Given the description of an element on the screen output the (x, y) to click on. 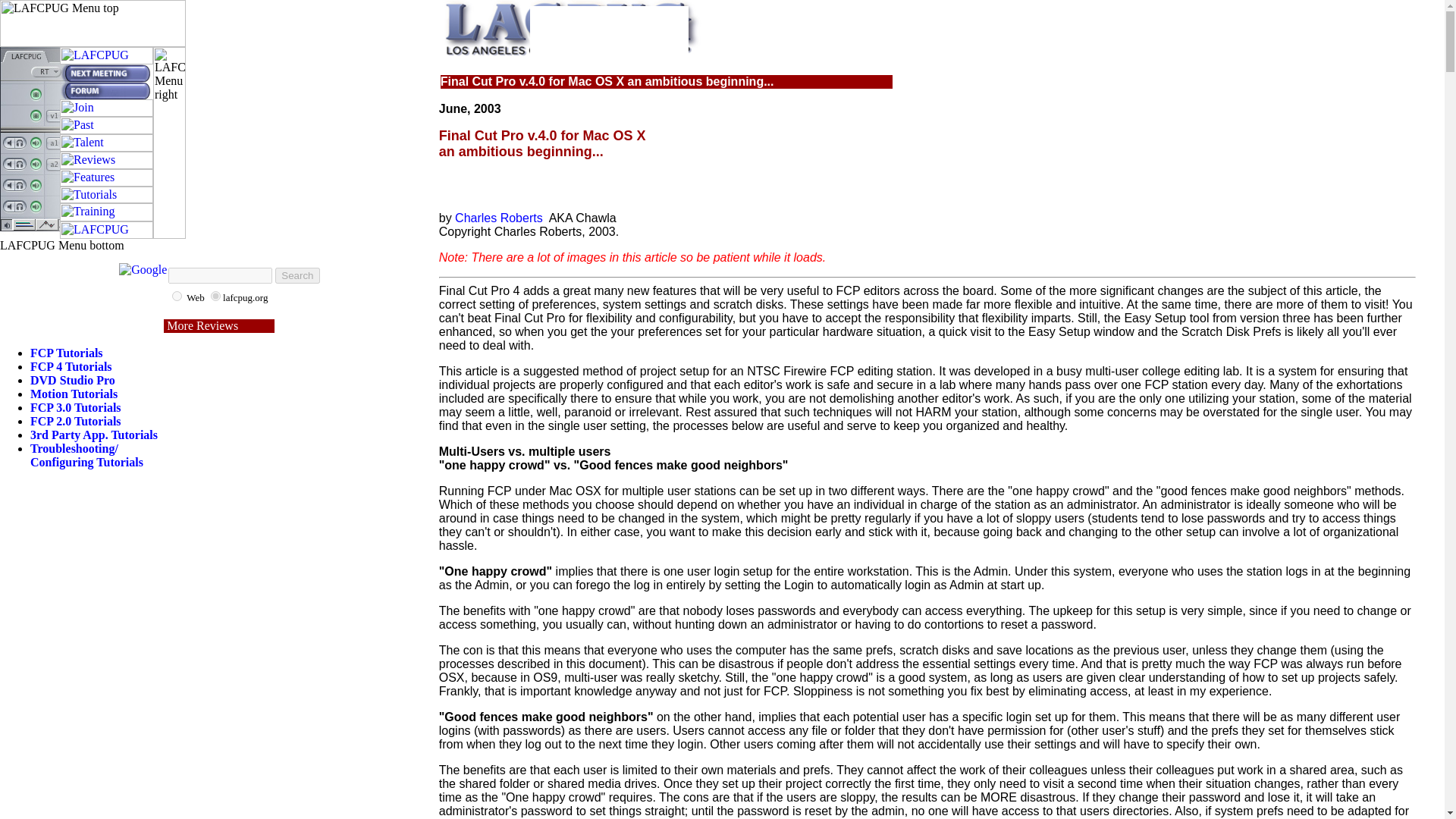
Search (296, 274)
DVD Studio Pro (72, 379)
3rd Party App. Tutorials (93, 434)
FCP Tutorials (66, 352)
Motion Tutorials (73, 393)
lafcpug.org (216, 296)
Search (296, 274)
FCP 2.0 Tutorials (75, 420)
radio (176, 296)
Charles Roberts (498, 217)
FCP 4 Tutorials (71, 366)
FCP 3.0 Tutorials (75, 407)
